Given the description of an element on the screen output the (x, y) to click on. 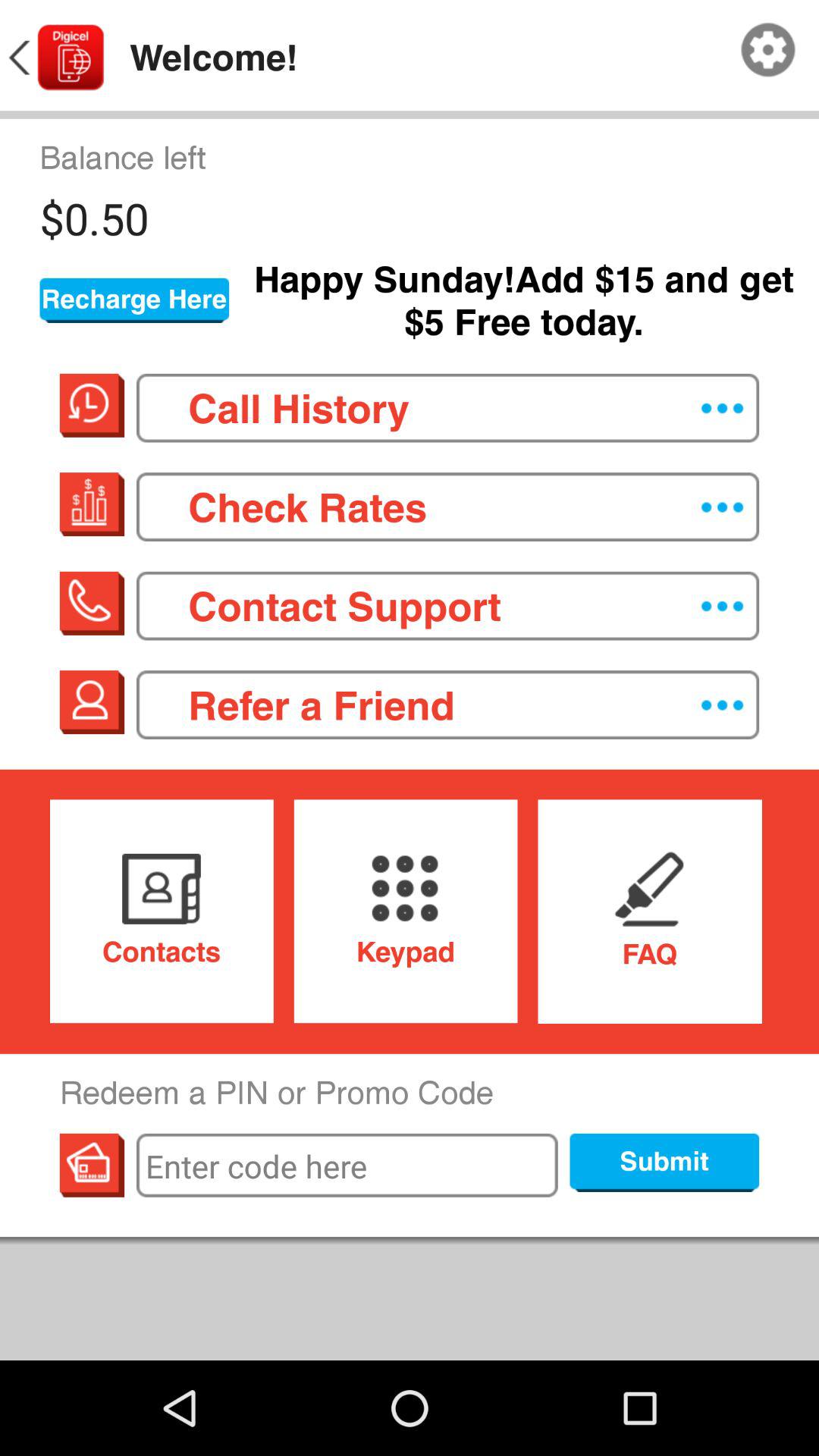
tap the icon at the top right corner (768, 49)
